Given the description of an element on the screen output the (x, y) to click on. 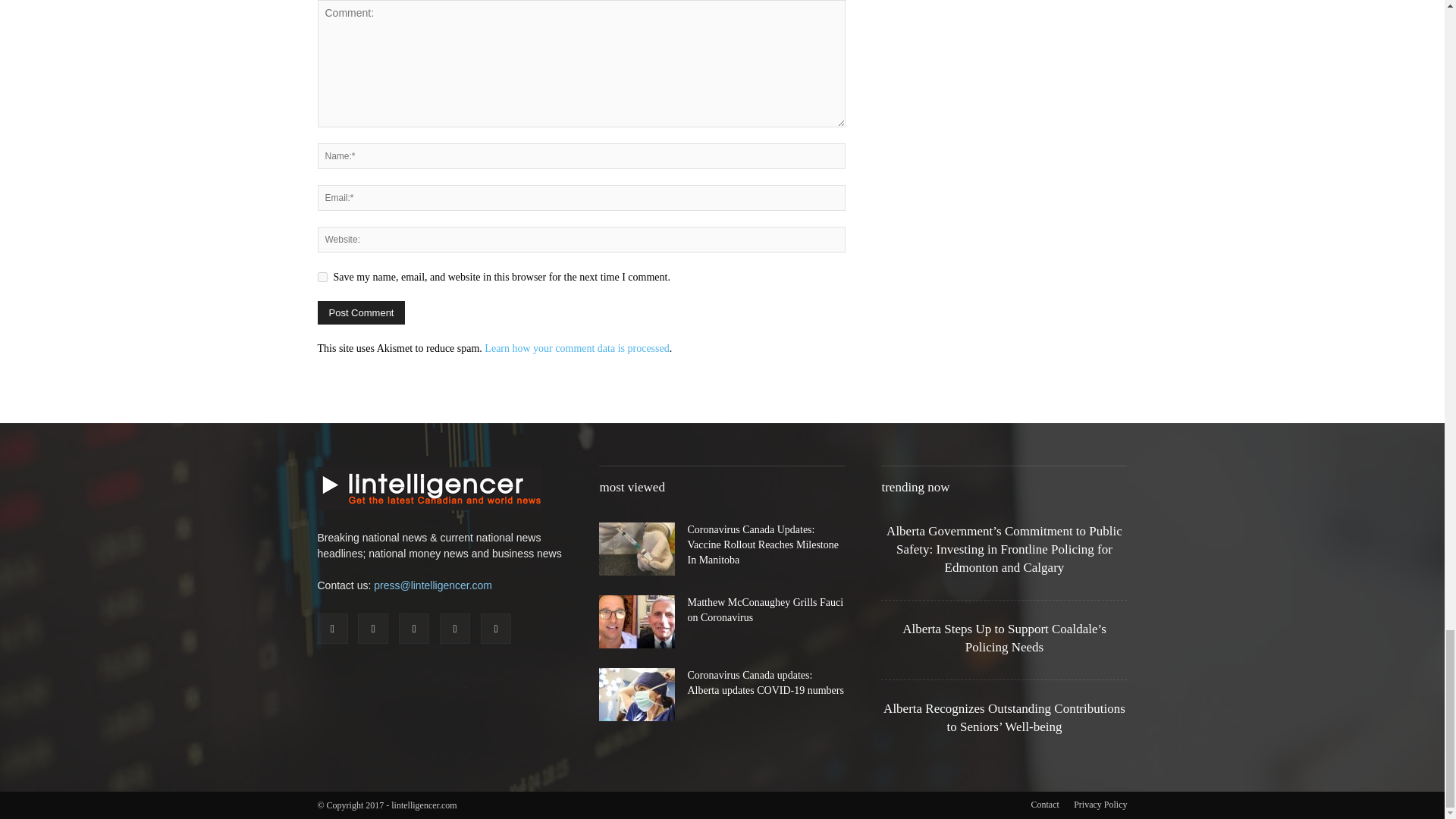
Post Comment (360, 312)
yes (321, 276)
